Given the description of an element on the screen output the (x, y) to click on. 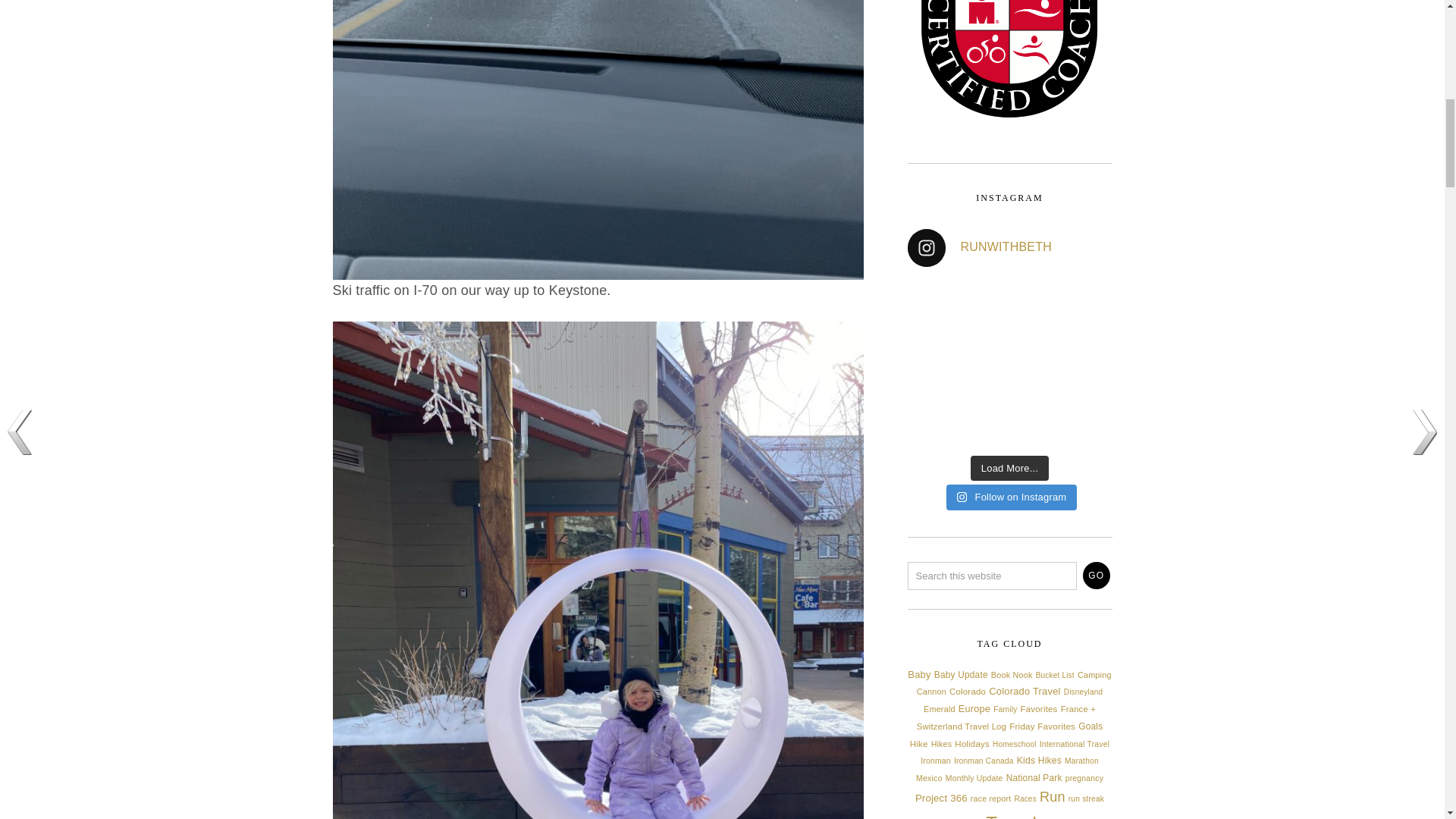
8 topics (1094, 674)
18 topics (918, 674)
8 topics (1011, 674)
8 topics (931, 691)
13 topics (961, 674)
4 topics (1054, 674)
GO (1096, 574)
RUNWITHBETH (1009, 247)
GO (1096, 574)
